Given the description of an element on the screen output the (x, y) to click on. 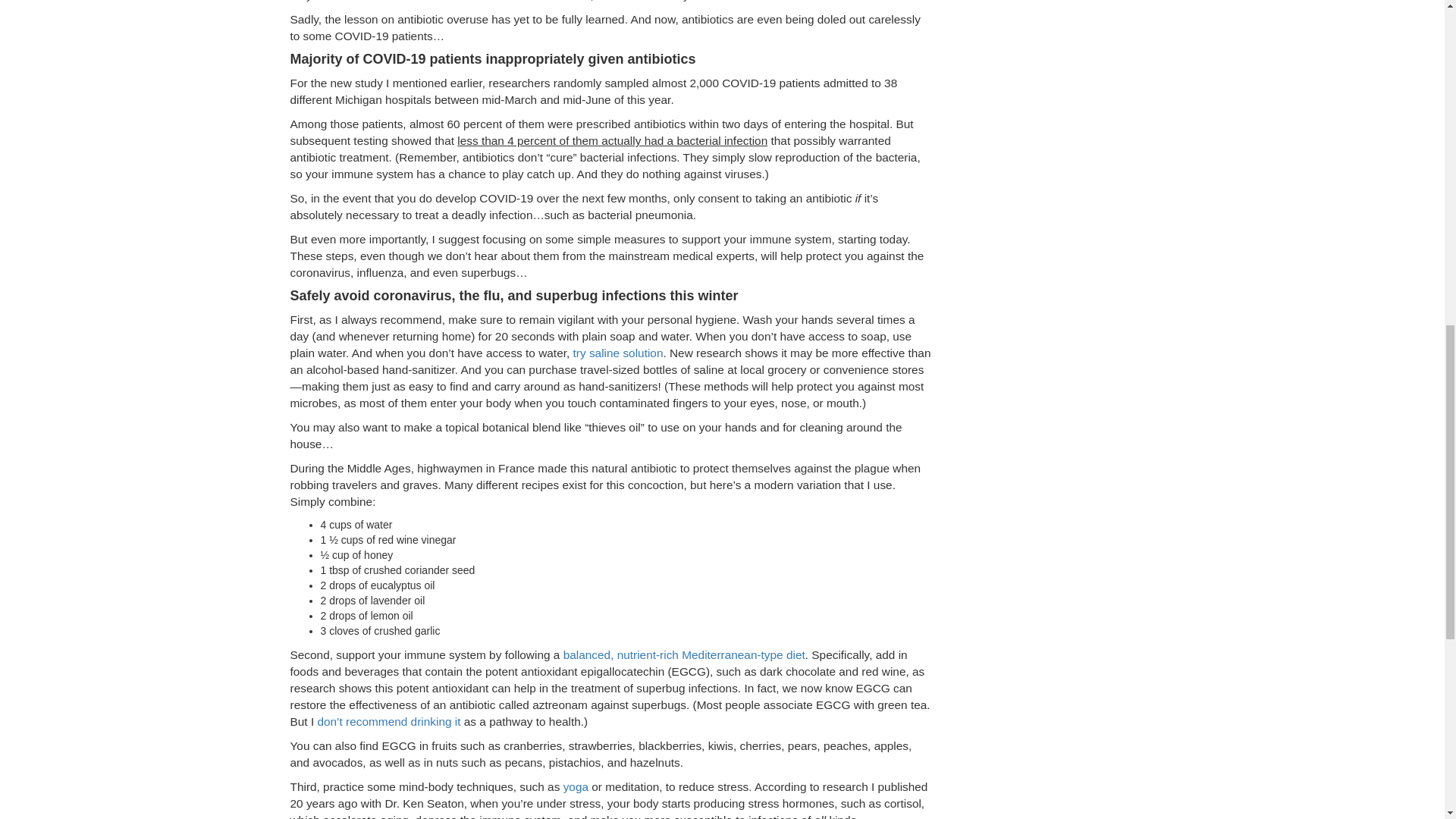
balanced, nutrient-rich Mediterranean-type diet (684, 654)
yoga (575, 786)
try saline solution (618, 352)
